Given the description of an element on the screen output the (x, y) to click on. 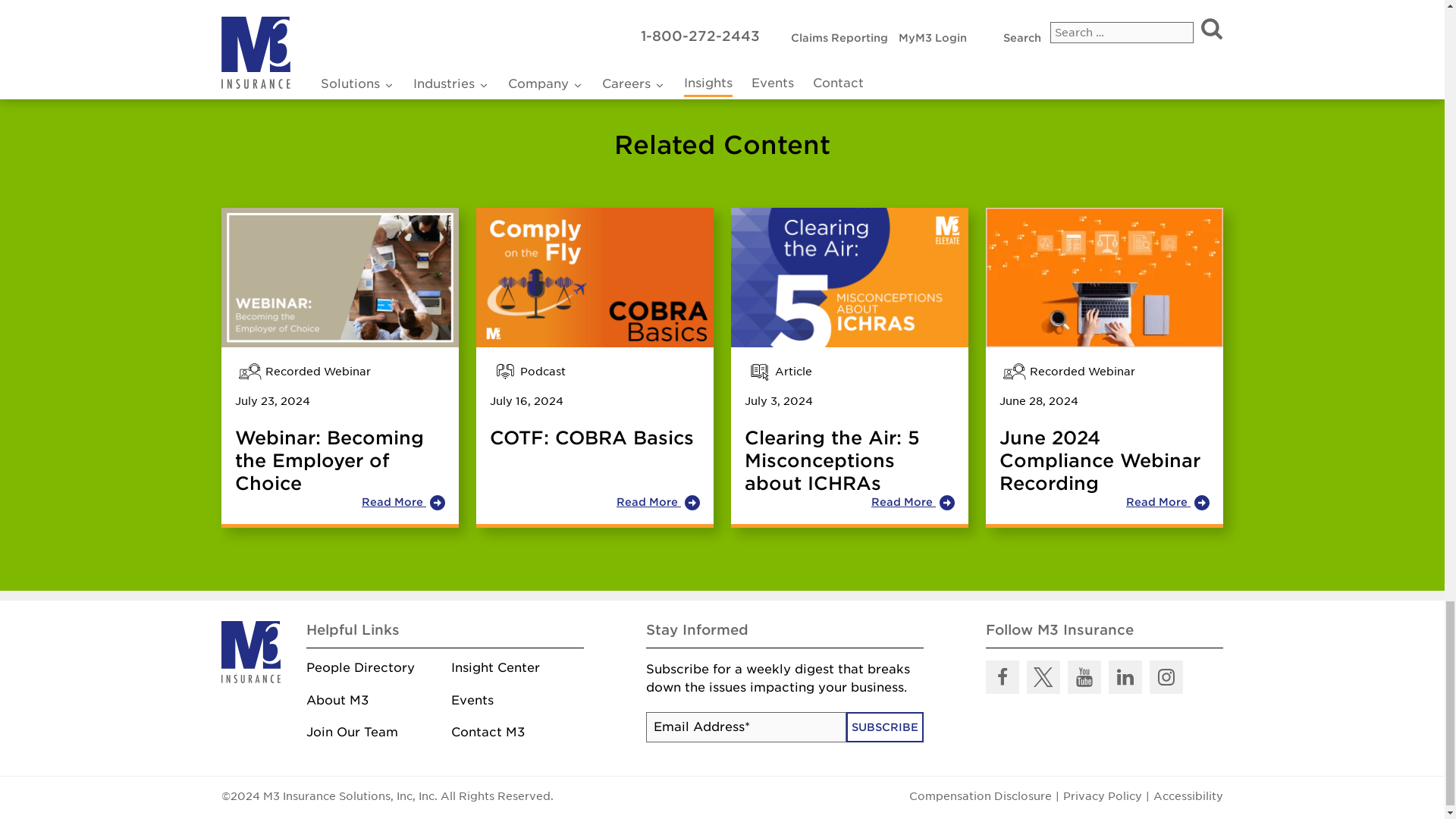
M3 Insurance on Facebook (1002, 676)
M3 Insurance on instagram (1166, 676)
M3 Insurance on LinkedIn (1124, 676)
M3 Insurance on youtube (1083, 676)
Subscribe (884, 726)
M3 Insurance on Twitter (1042, 676)
